Given the description of an element on the screen output the (x, y) to click on. 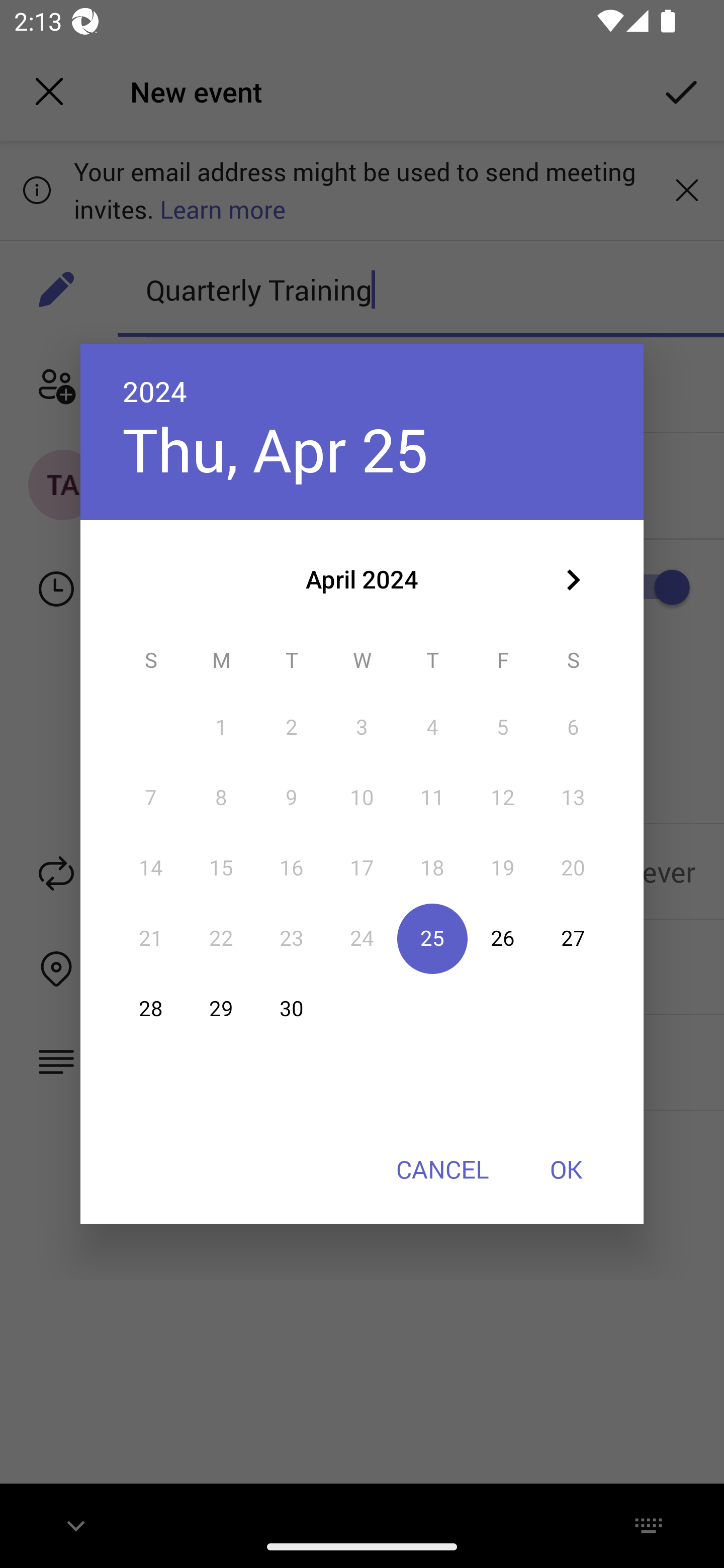
2024 (154, 391)
Thu, Apr 25 (275, 449)
Next month (572, 579)
1 01 April 2024 (221, 728)
2 02 April 2024 (291, 728)
3 03 April 2024 (361, 728)
4 04 April 2024 (432, 728)
5 05 April 2024 (502, 728)
6 06 April 2024 (572, 728)
7 07 April 2024 (150, 797)
8 08 April 2024 (221, 797)
9 09 April 2024 (291, 797)
10 10 April 2024 (361, 797)
11 11 April 2024 (432, 797)
12 12 April 2024 (502, 797)
13 13 April 2024 (572, 797)
14 14 April 2024 (150, 867)
15 15 April 2024 (221, 867)
16 16 April 2024 (291, 867)
17 17 April 2024 (361, 867)
18 18 April 2024 (432, 867)
19 19 April 2024 (502, 867)
20 20 April 2024 (572, 867)
21 21 April 2024 (150, 938)
22 22 April 2024 (221, 938)
23 23 April 2024 (291, 938)
24 24 April 2024 (361, 938)
25 25 April 2024 (432, 938)
26 26 April 2024 (502, 938)
27 27 April 2024 (572, 938)
28 28 April 2024 (150, 1008)
29 29 April 2024 (221, 1008)
30 30 April 2024 (291, 1008)
CANCEL (442, 1168)
OK (565, 1168)
